Given the description of an element on the screen output the (x, y) to click on. 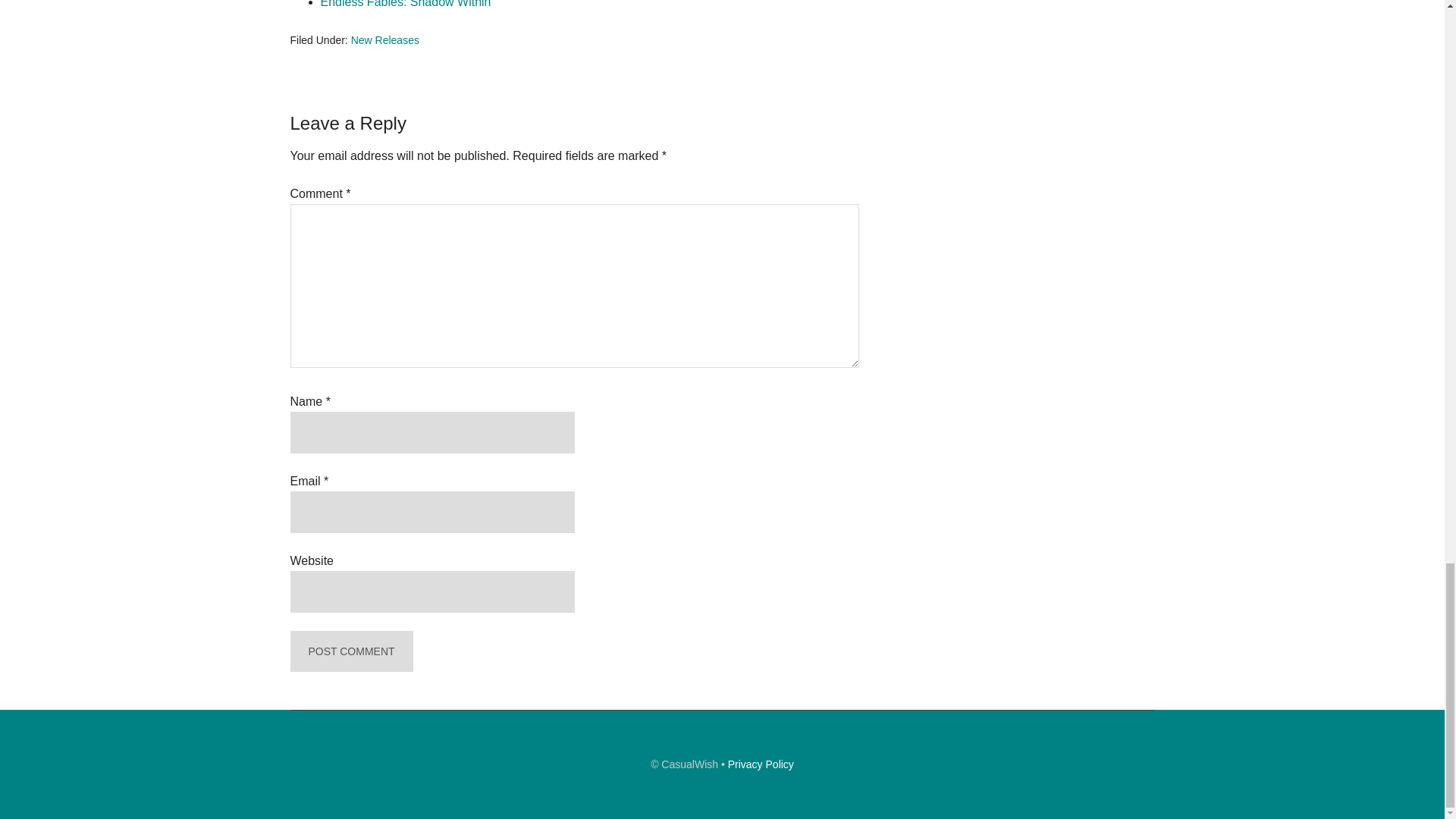
Post Comment (350, 651)
Endless Fables: Shadow Within (405, 4)
New Releases (384, 39)
Endless Fables: Shadow Within (405, 4)
Post Comment (350, 651)
